Given the description of an element on the screen output the (x, y) to click on. 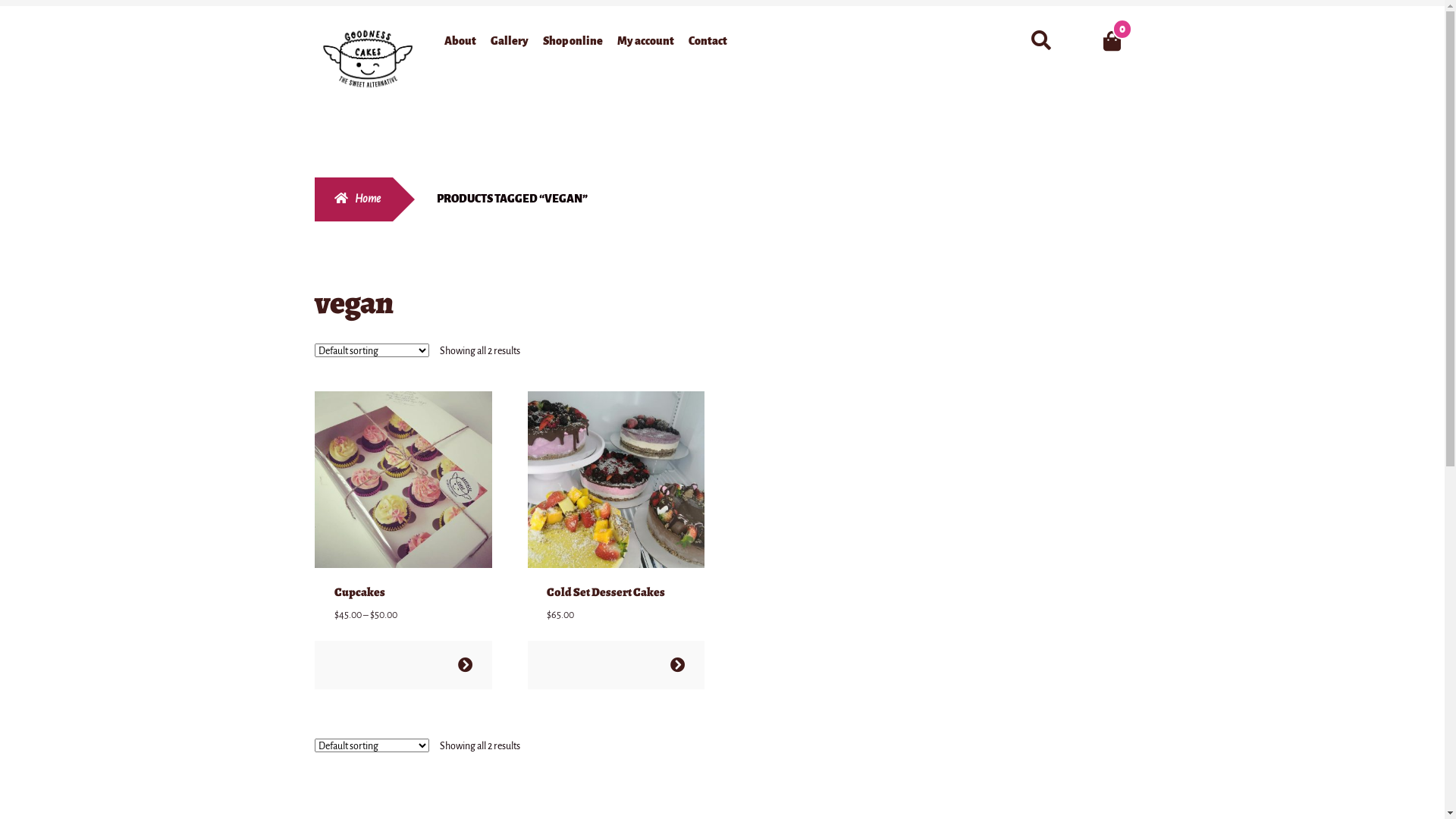
My account Element type: text (645, 43)
About Element type: text (460, 43)
Select options Element type: text (677, 664)
Home Element type: text (353, 199)
Select options Element type: text (465, 664)
Cold Set Dessert Cakes
$65.00 Element type: text (616, 507)
Search Element type: text (1022, 24)
Contact Element type: text (707, 43)
Skip to navigation Element type: text (313, 25)
Gallery Element type: text (509, 43)
Shop online Element type: text (572, 43)
